Given the description of an element on the screen output the (x, y) to click on. 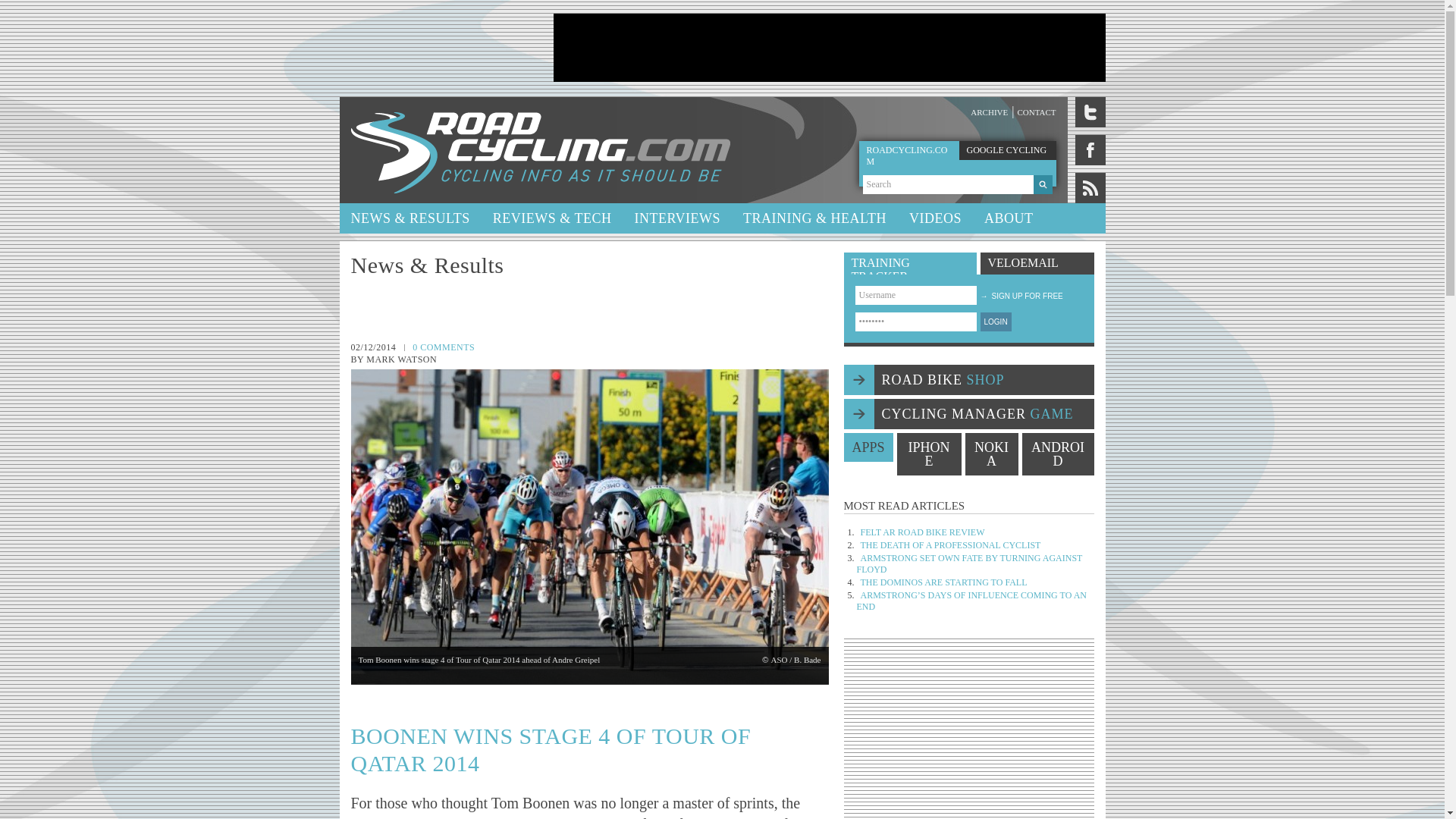
CONTACT (1035, 112)
ABOUT (1008, 218)
FELT AR ROAD BIKE REVIEW (922, 532)
ARMSTRONG SET OWN FATE BY TURNING AGAINST FLOYD (970, 563)
0 COMMENTS (443, 346)
INTERVIEWS (677, 218)
RoadCycling.com - Cycling info as it should be (540, 150)
IPHONE (928, 454)
THE DOMINOS ARE STARTING TO FALL (943, 582)
Advertisement (969, 733)
Advertisement (829, 47)
LOGIN (994, 321)
ROAD BIKE SHOP (968, 379)
NOKIA (990, 454)
Search (948, 184)
